Given the description of an element on the screen output the (x, y) to click on. 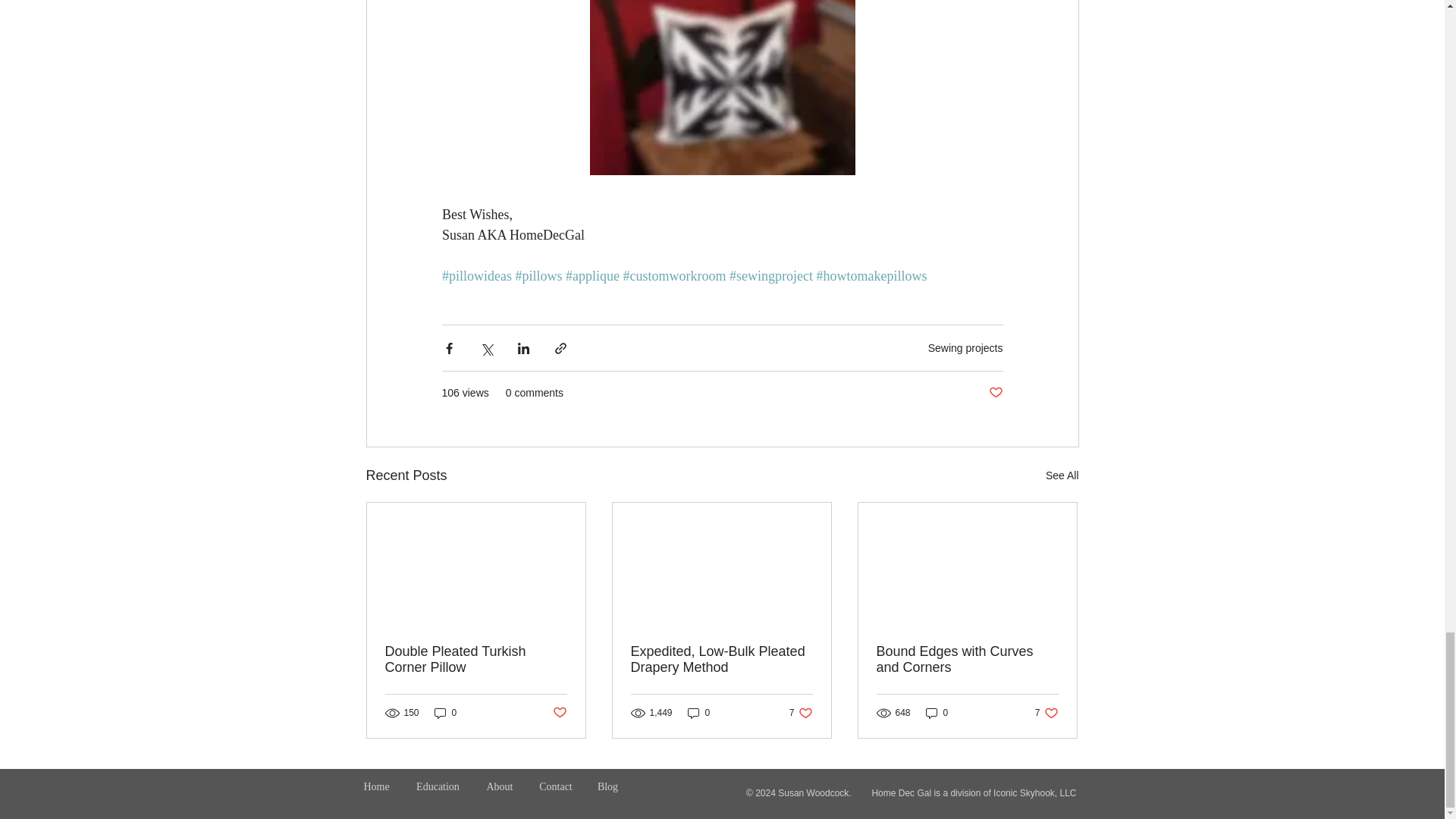
See All (1061, 475)
Post not marked as liked (995, 392)
Sewing projects (965, 347)
Double Pleated Turkish Corner Pillow (476, 659)
